Given the description of an element on the screen output the (x, y) to click on. 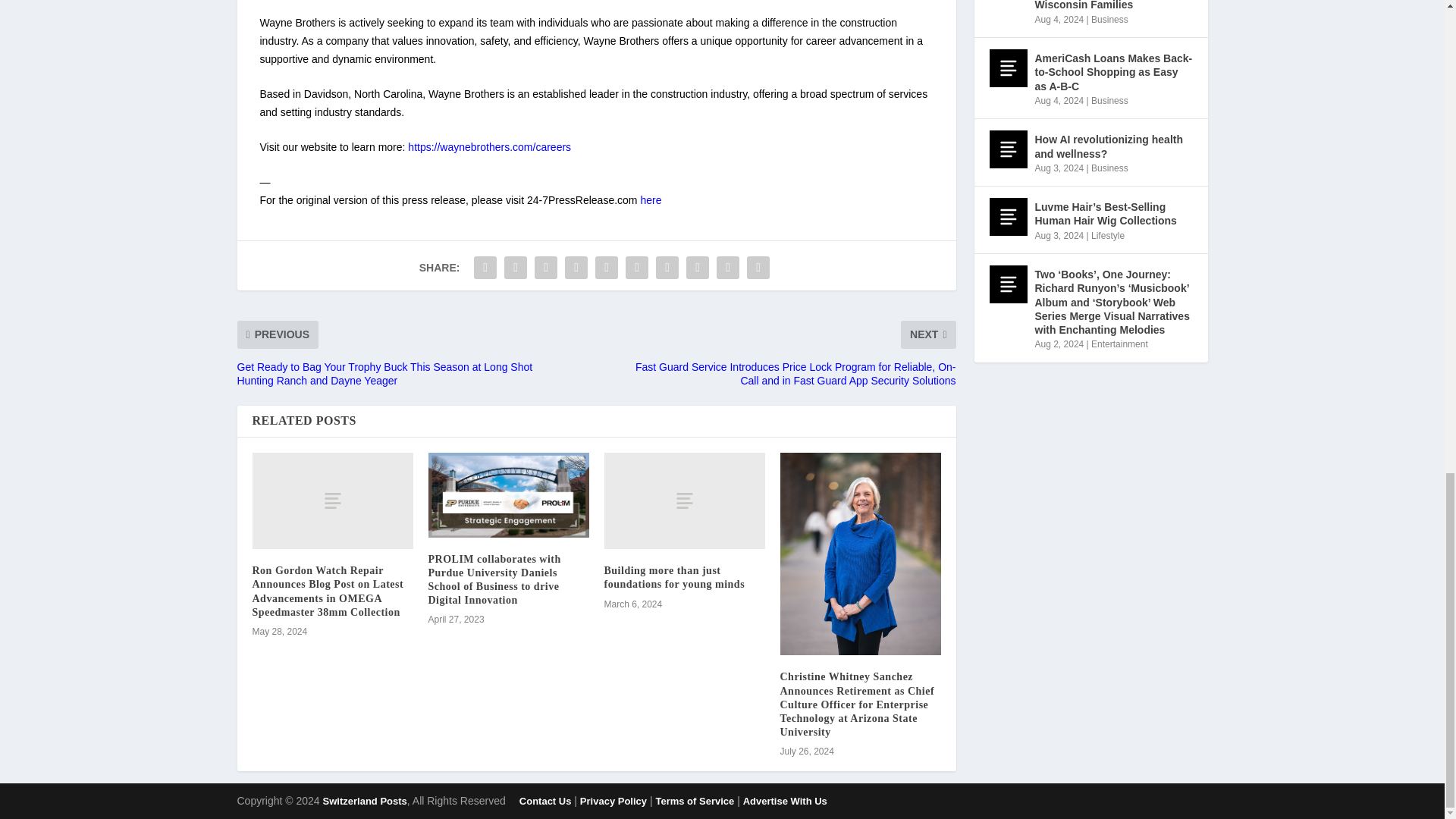
here (650, 200)
Building more than just foundations for young minds (684, 500)
